Given the description of an element on the screen output the (x, y) to click on. 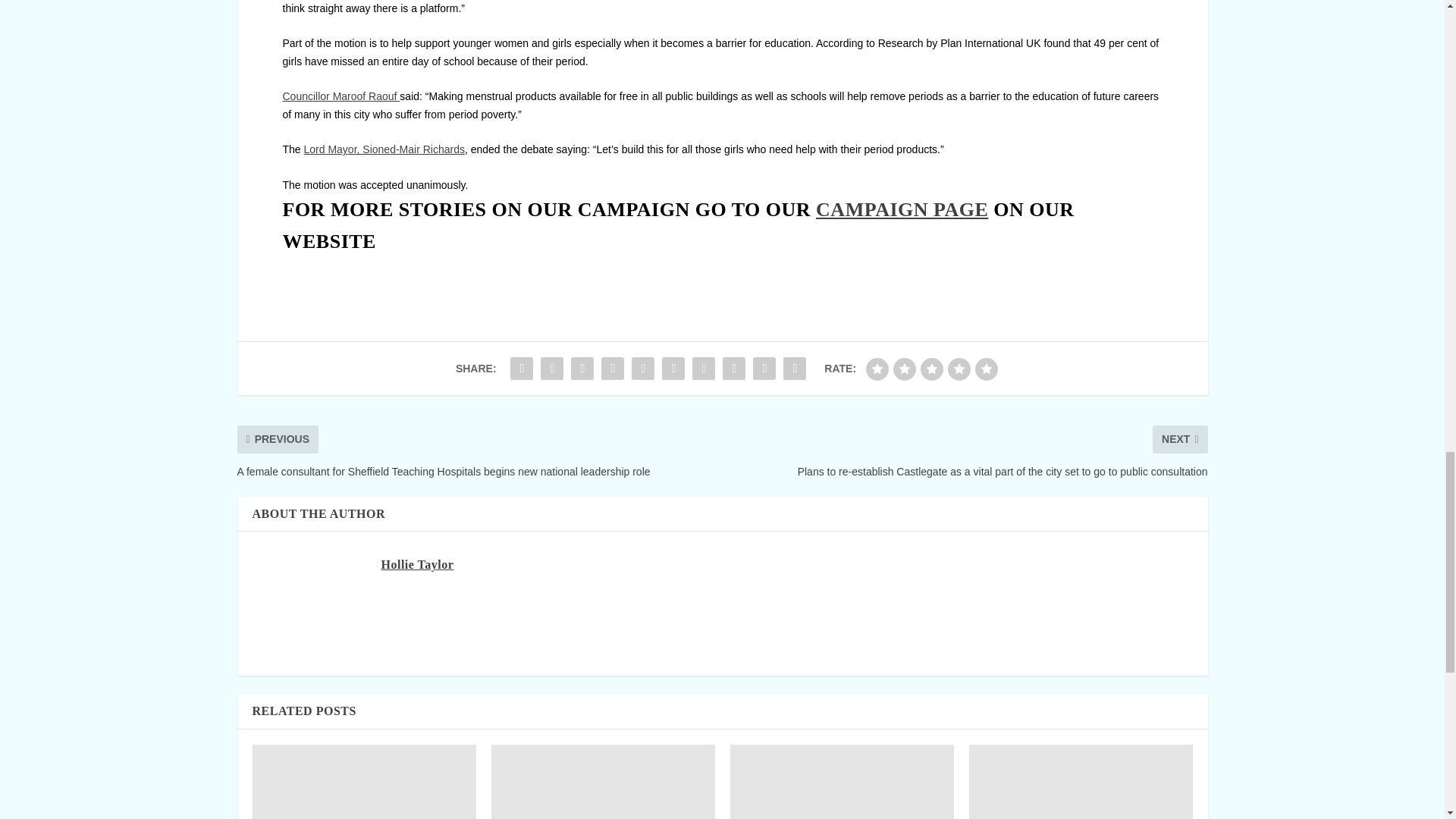
Councillor Maroof Raouf (340, 96)
CAMPAIGN PAGE (901, 209)
Lord Mayor, Sioned-Mair Richards (384, 149)
